Given the description of an element on the screen output the (x, y) to click on. 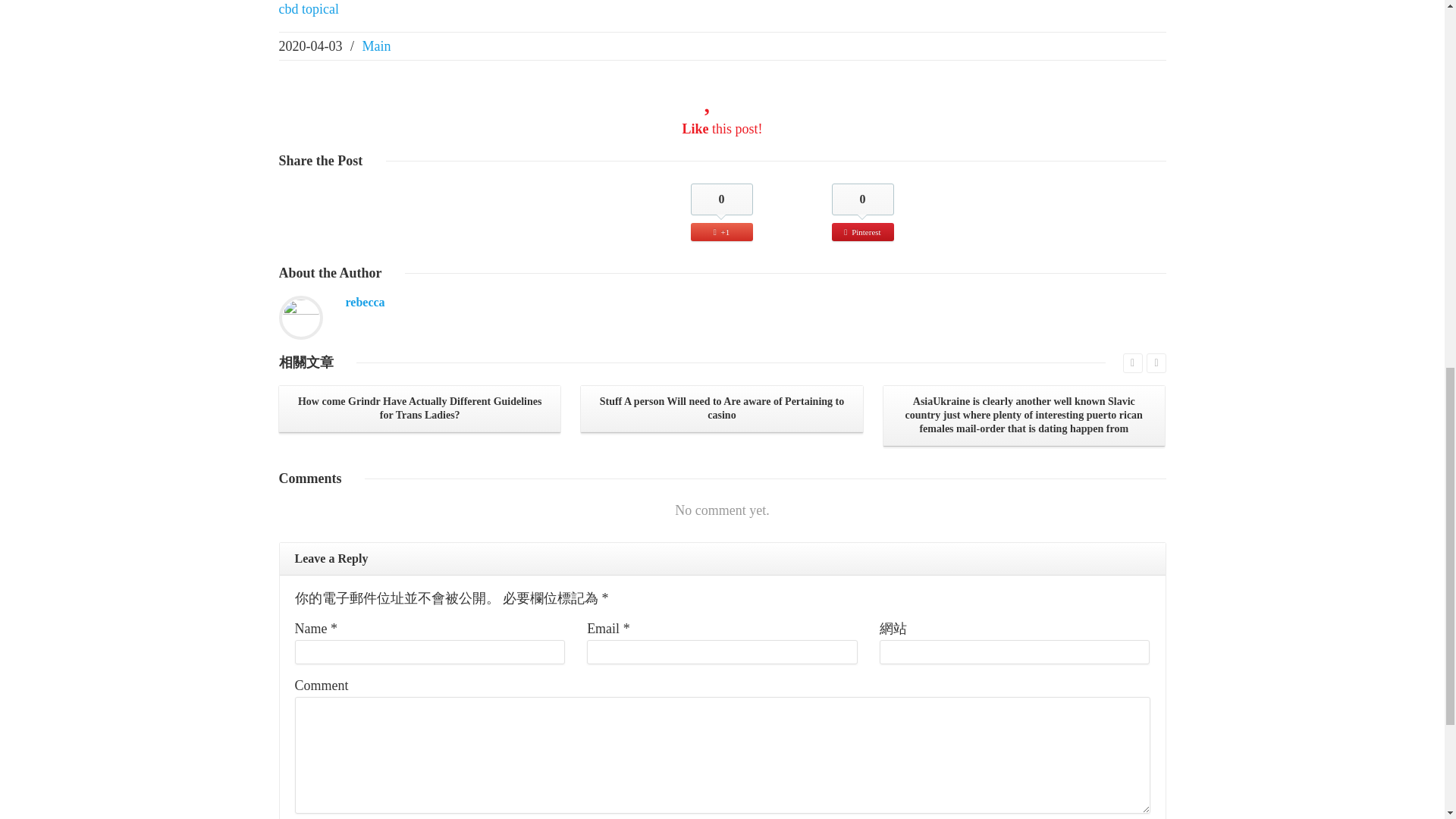
Like this (721, 128)
0 (862, 199)
rebecca (365, 301)
Like this post! (721, 128)
cbd topical (309, 8)
0 (721, 199)
Pinterest (862, 231)
Main (376, 46)
Author's Posts (365, 301)
